Given the description of an element on the screen output the (x, y) to click on. 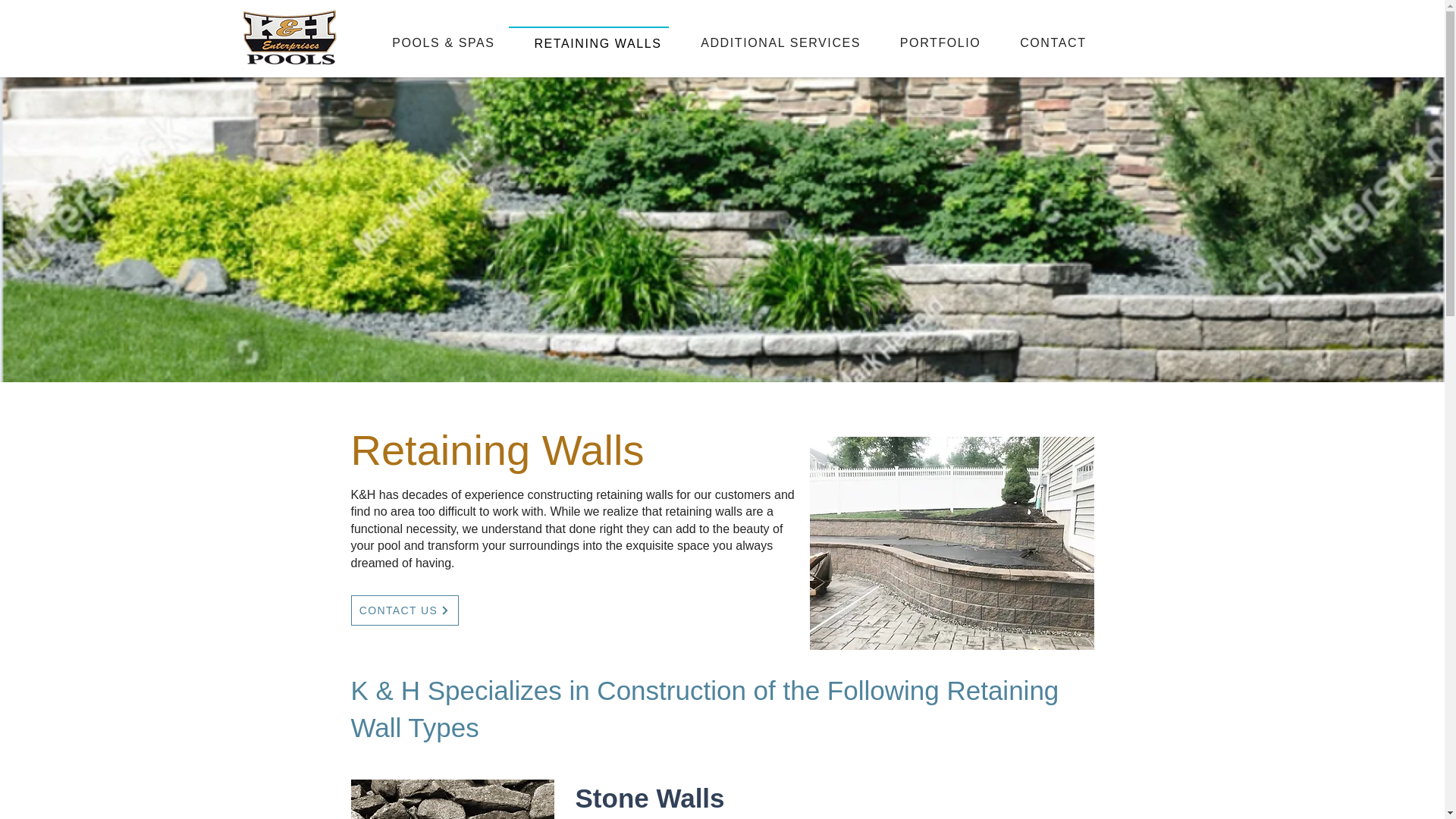
retaining-wall-kandhpools-2.jpg (451, 799)
CONTACT US (404, 610)
kH.png (288, 37)
CONTACT (1043, 42)
retaining-wall-khpools-1.jpg (951, 543)
PORTFOLIO (931, 42)
RETAINING WALLS (588, 42)
ADDITIONAL SERVICES (771, 42)
